Given the description of an element on the screen output the (x, y) to click on. 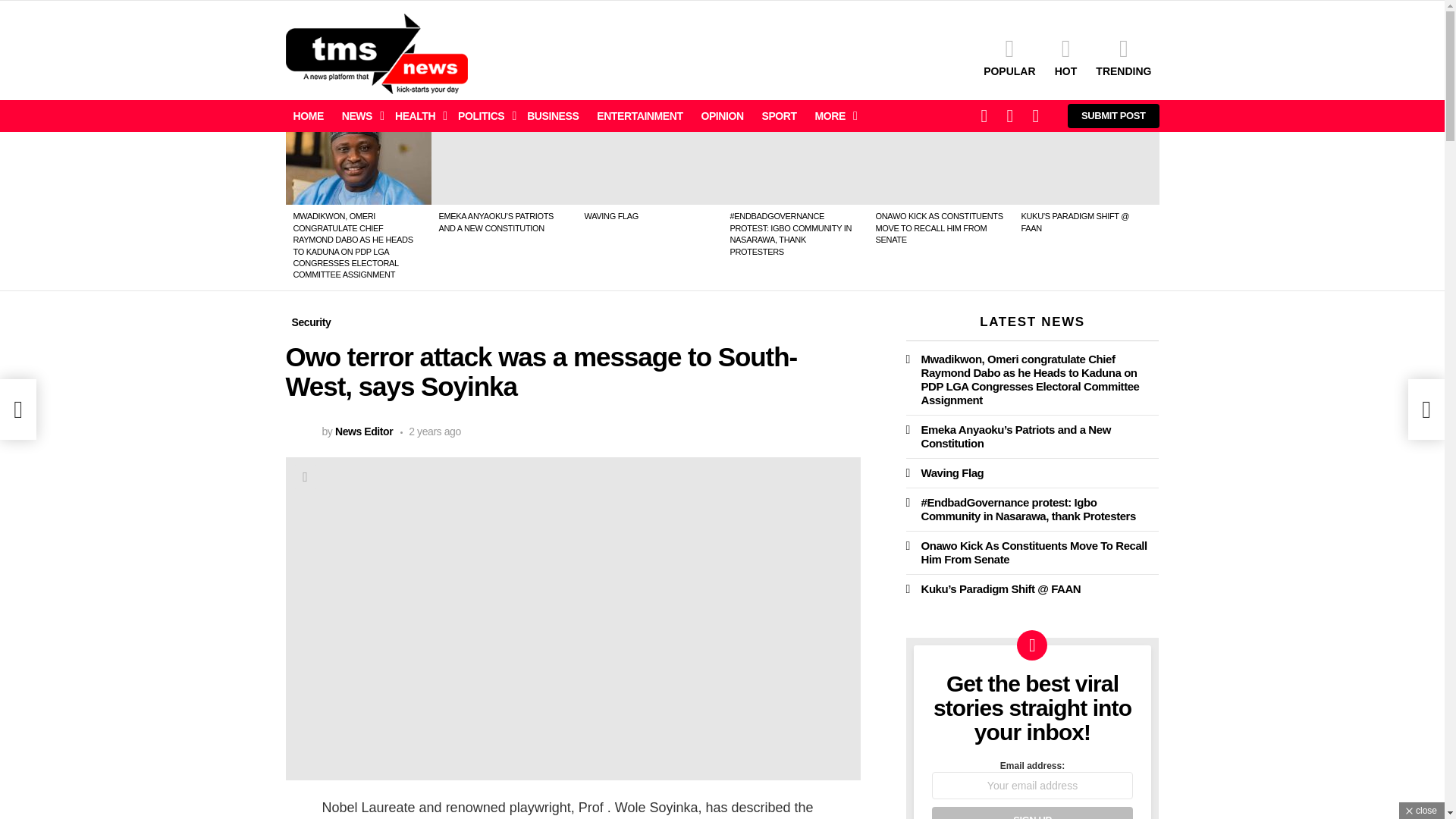
POLITICS (482, 115)
POPULAR (1008, 56)
OPINION (722, 115)
HEALTH (416, 115)
BUSINESS (552, 115)
MORE (832, 115)
HOT (1064, 56)
NEWS (359, 115)
SPORT (778, 115)
HOME (307, 115)
